Given the description of an element on the screen output the (x, y) to click on. 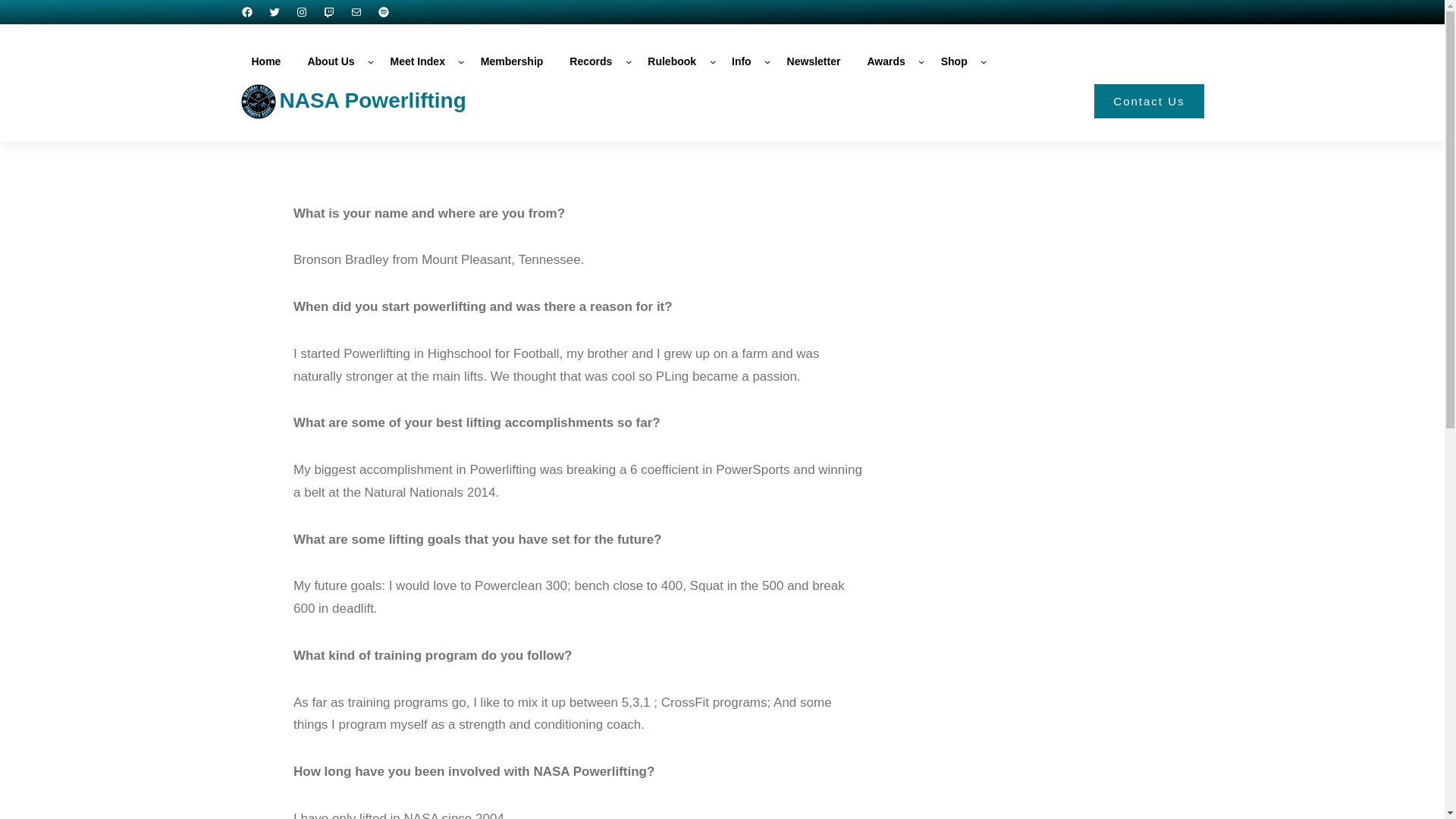
Twitter (274, 11)
Instagram (301, 11)
Records (591, 61)
Meet Index (417, 61)
Membership (511, 61)
Facebook (247, 11)
About Us (331, 61)
Awards (885, 61)
Spotify (383, 11)
Twitch (328, 11)
